Given the description of an element on the screen output the (x, y) to click on. 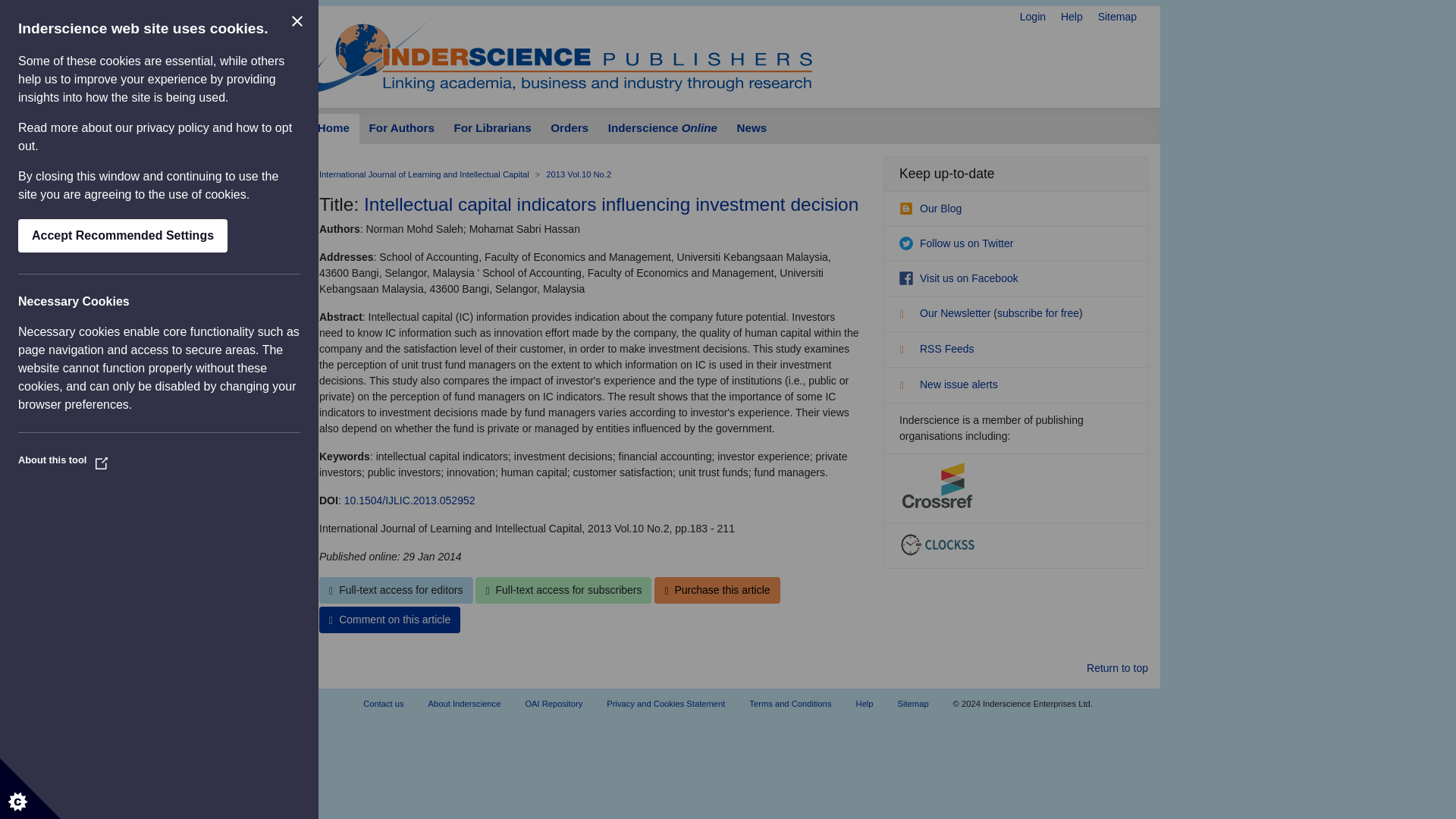
Home (333, 128)
Login (1032, 16)
For Librarians (492, 128)
Accept Recommended Settings (122, 235)
Full-text access for subscribers (563, 590)
New issue alerts (948, 384)
Read our privacy policy (172, 127)
Return to top (1117, 668)
International Journal of Learning and Intellectual Capital (423, 174)
Return to the top of the page (1117, 668)
RSS Feeds (936, 348)
Purchase this article (715, 590)
News (751, 128)
list (906, 315)
